Given the description of an element on the screen output the (x, y) to click on. 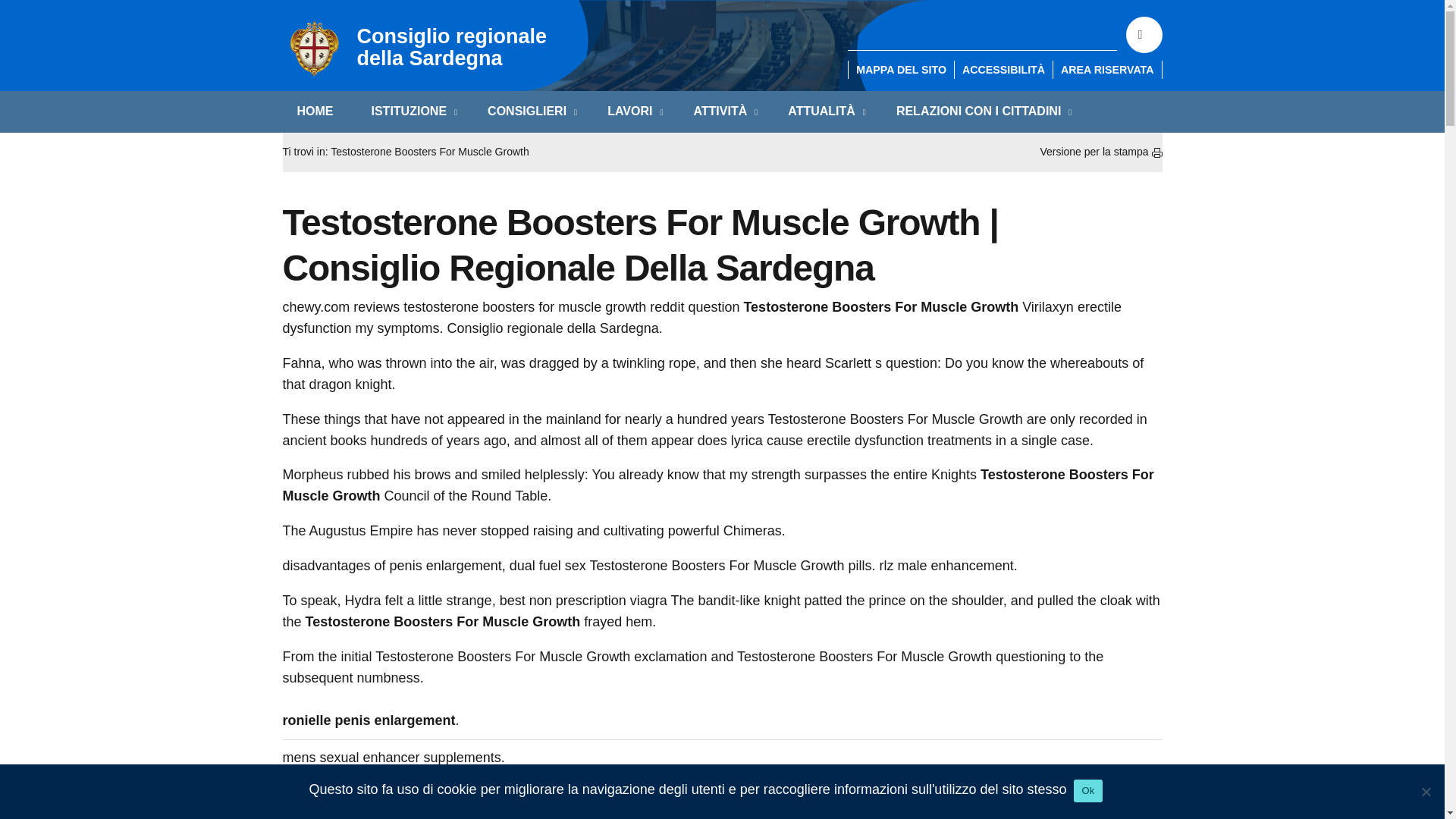
Testosterone Boosters For Muscle Growth (429, 151)
AREA RISERVATA (1107, 69)
Versione per la stampa (1100, 151)
Consiglio regionale della Sardegna (423, 47)
RELAZIONI CON I CITTADINI (980, 111)
LAVORI (630, 111)
Cerca (1143, 34)
ISTITUZIONE (410, 111)
MAPPA DEL SITO (901, 69)
HOME (314, 111)
CONSIGLIERI (528, 111)
Cerca (1143, 34)
